Given the description of an element on the screen output the (x, y) to click on. 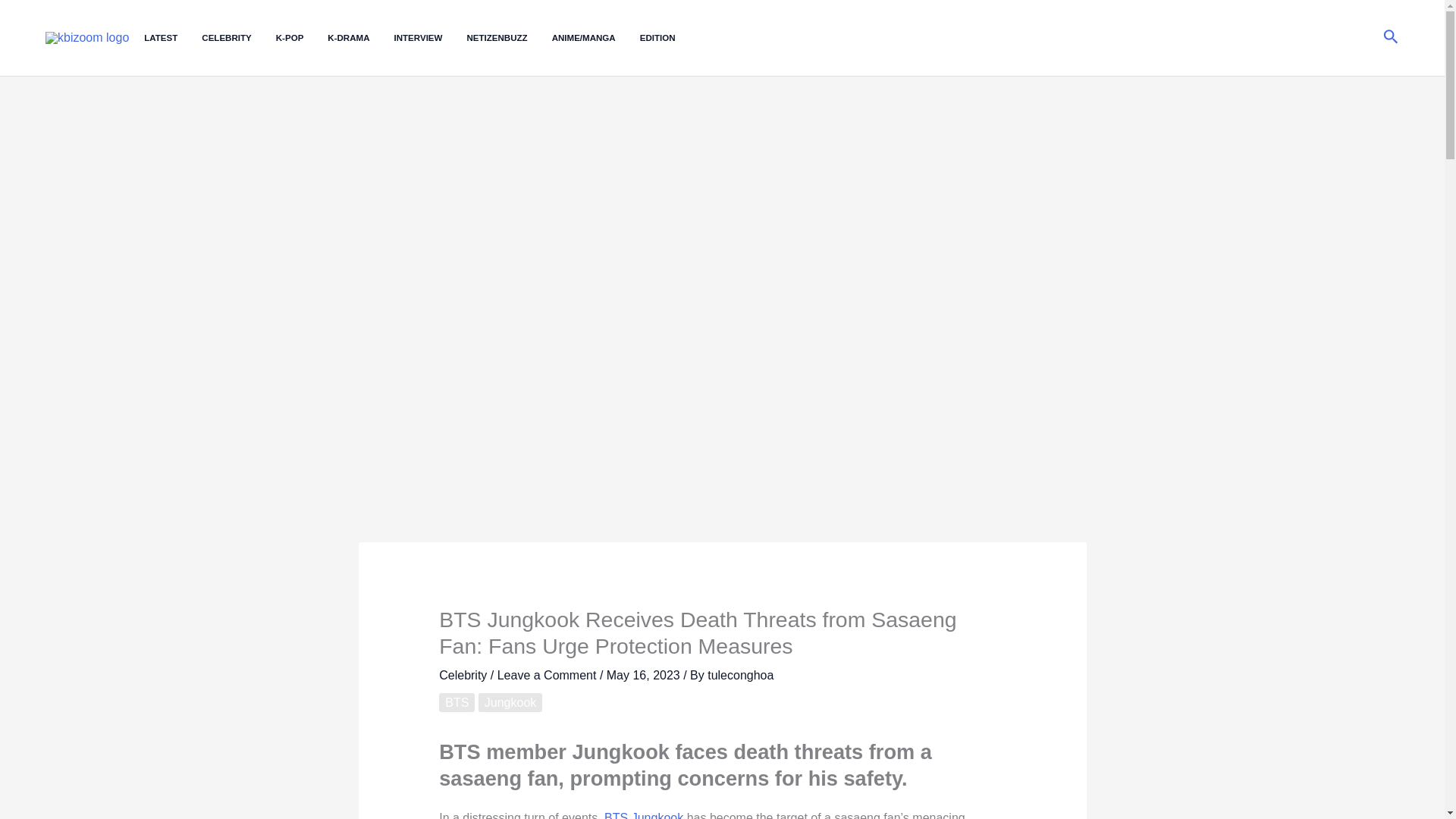
CELEBRITY (238, 38)
Leave a Comment (546, 675)
Jungkook (657, 815)
INTERVIEW (430, 38)
tuleconghoa (740, 675)
BTS (456, 701)
Jungkook (511, 701)
View all posts by tuleconghoa (740, 675)
NETIZENBUZZ (508, 38)
Celebrity (462, 675)
